Given the description of an element on the screen output the (x, y) to click on. 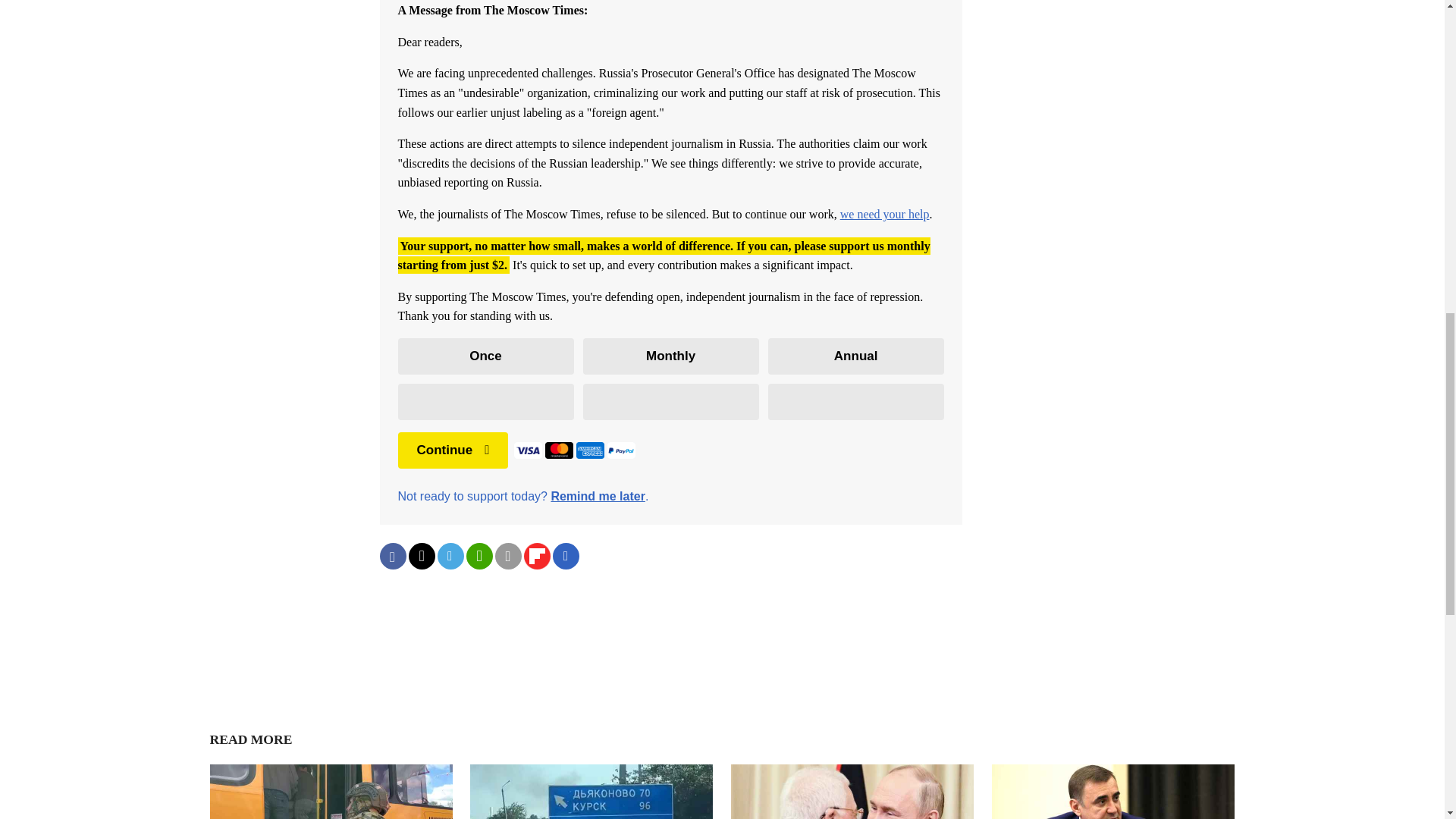
we need your help (885, 214)
Share on Flipboard (536, 555)
Share on Telegram (449, 555)
Share on Facebook (392, 555)
Share on Twitter (420, 555)
